Given the description of an element on the screen output the (x, y) to click on. 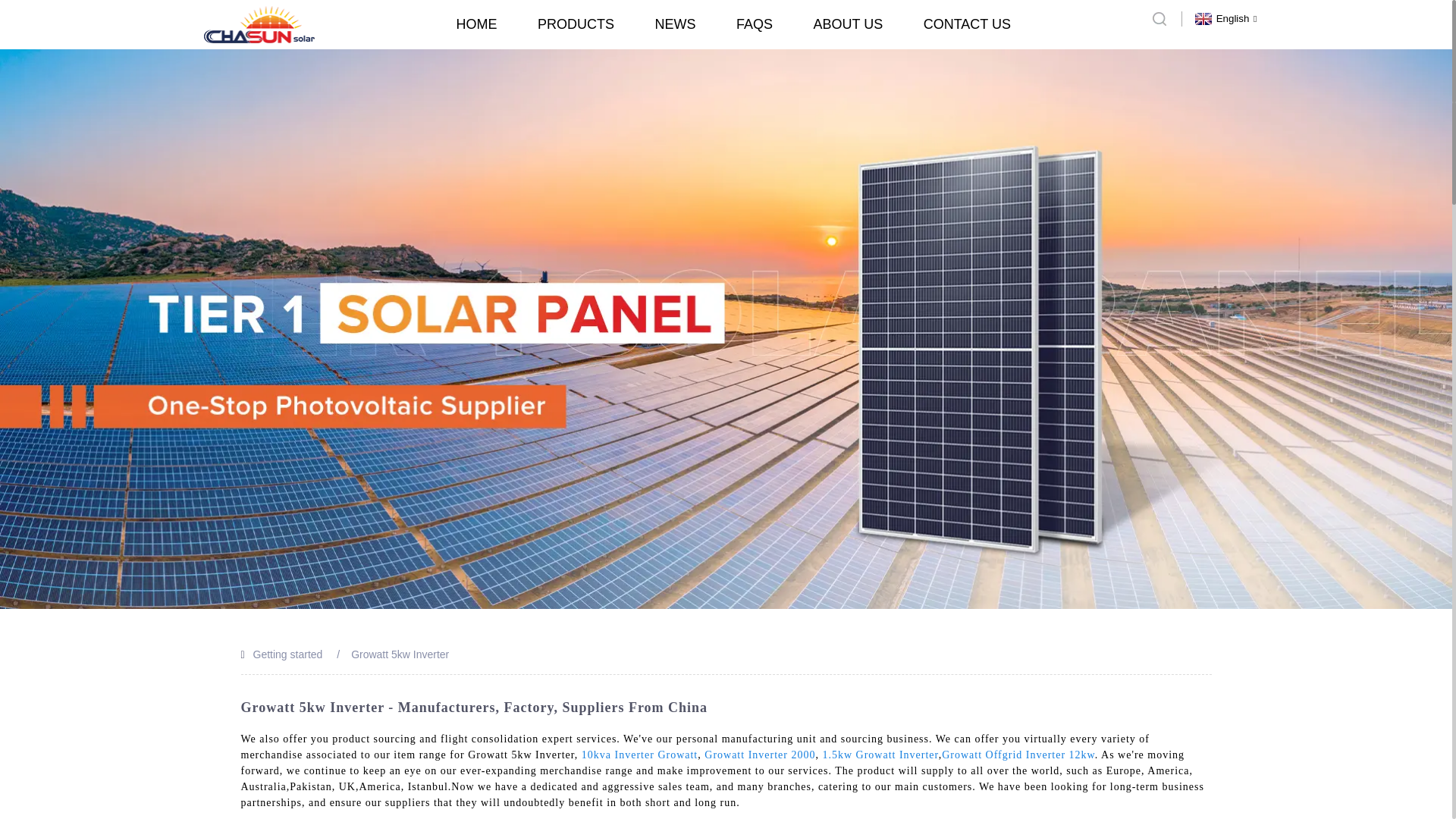
HOME (477, 23)
Growatt Offgrid Inverter 12kw (1018, 754)
NEWS (675, 23)
1.5kw Growatt Inverter (879, 754)
Growatt Inverter 2000 (759, 754)
Growatt Offgrid Inverter 12kw (1018, 754)
Growatt 5kw Inverter (399, 654)
PRODUCTS (575, 23)
10kva Inverter Growatt (638, 754)
CONTACT US (966, 23)
